Given the description of an element on the screen output the (x, y) to click on. 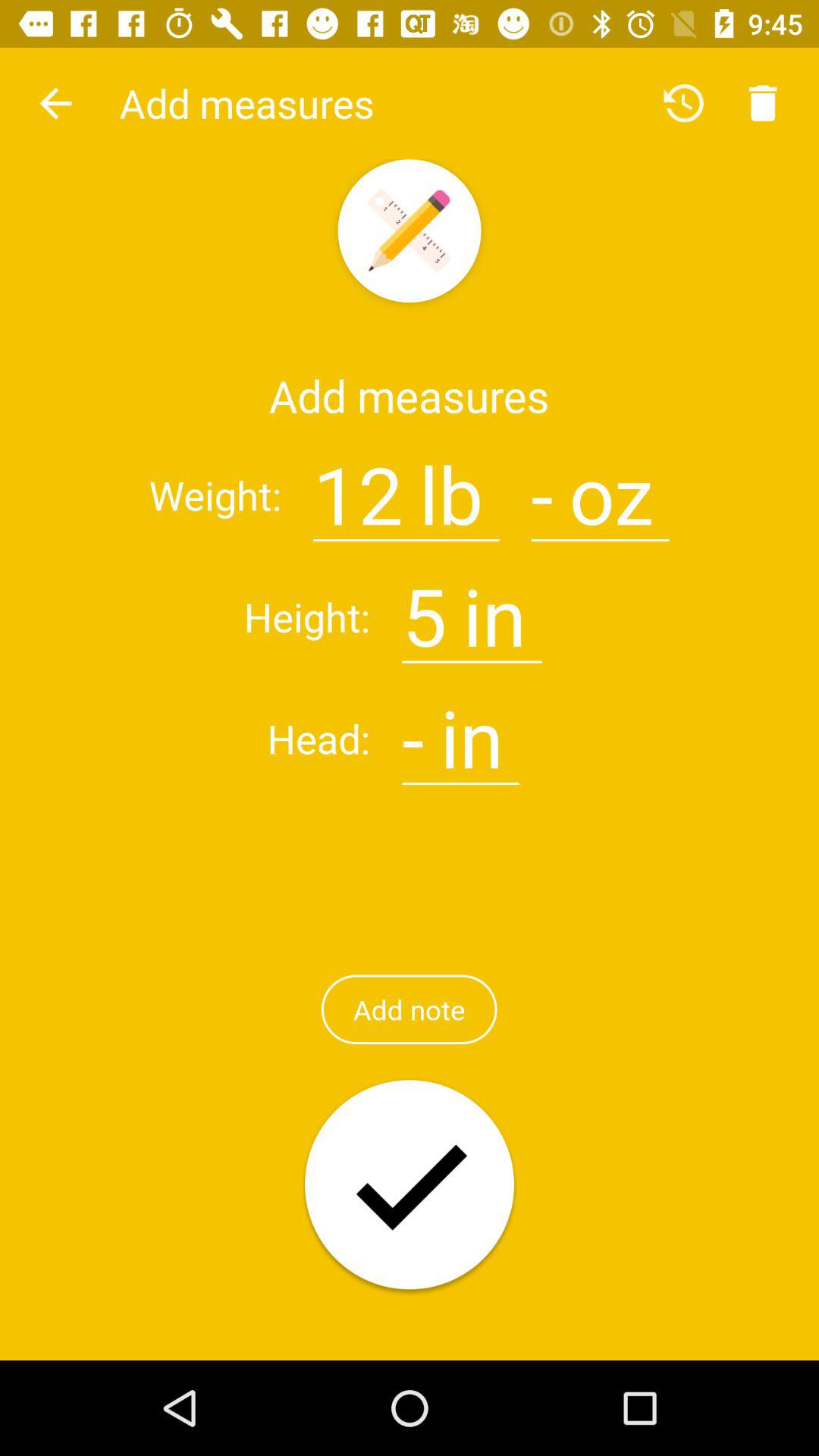
open the icon next to : item (424, 607)
